Given the description of an element on the screen output the (x, y) to click on. 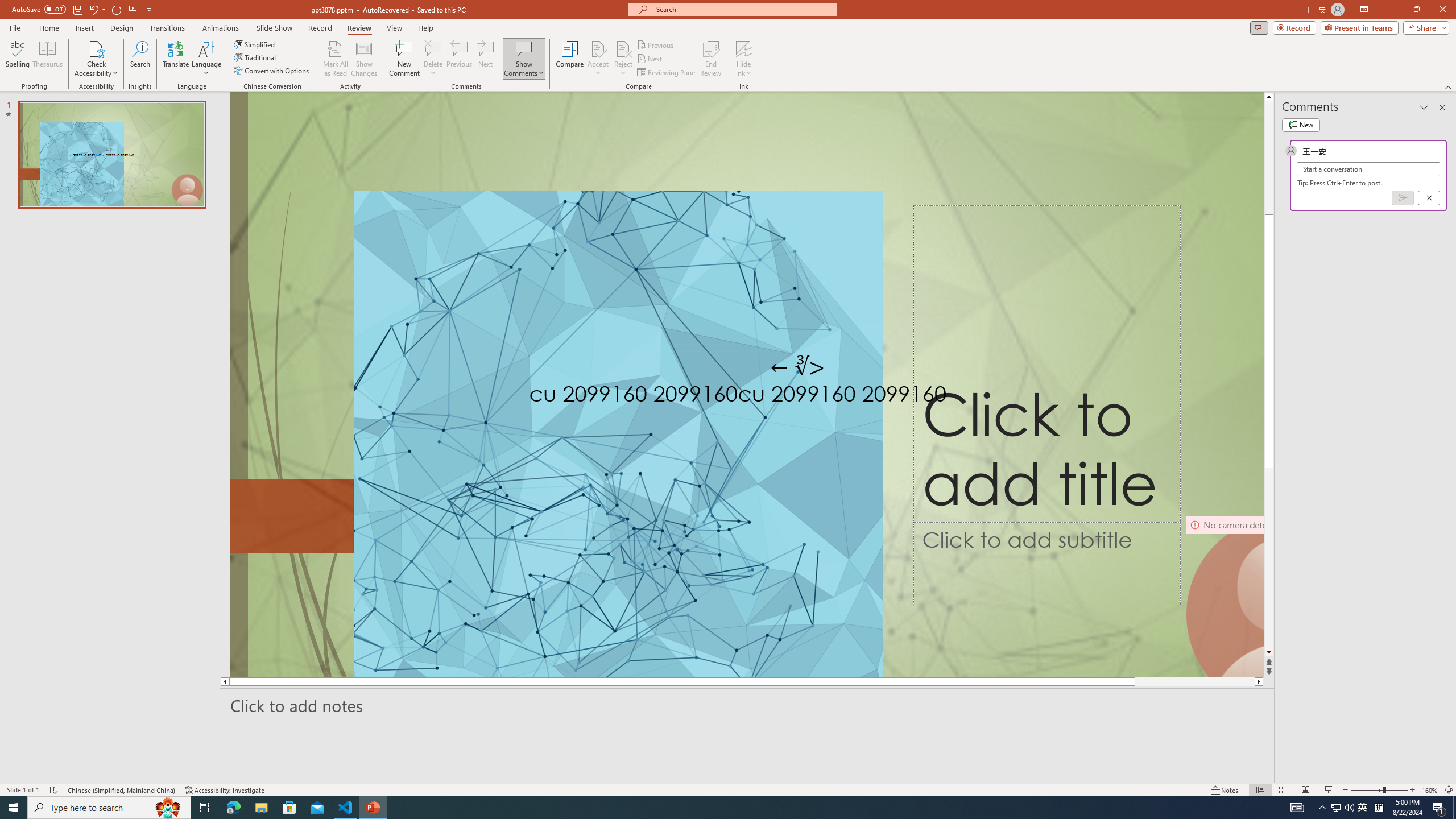
Traditional (255, 56)
Delete (432, 48)
Show Comments (524, 48)
Subtitle TextBox (1046, 563)
Hide Ink (743, 58)
Reject (622, 58)
Previous (655, 44)
